Given the description of an element on the screen output the (x, y) to click on. 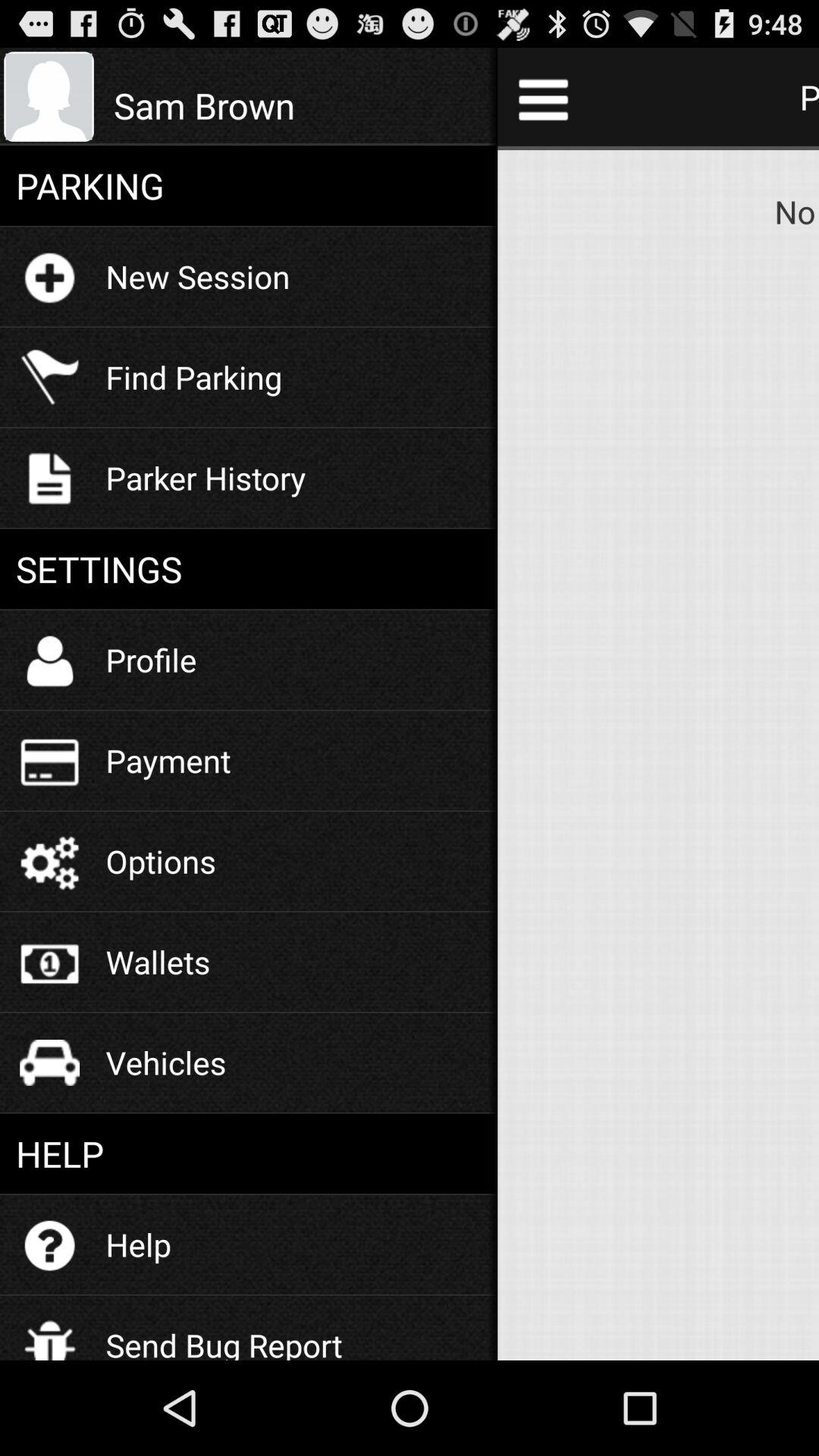
jump to options icon (160, 860)
